Given the description of an element on the screen output the (x, y) to click on. 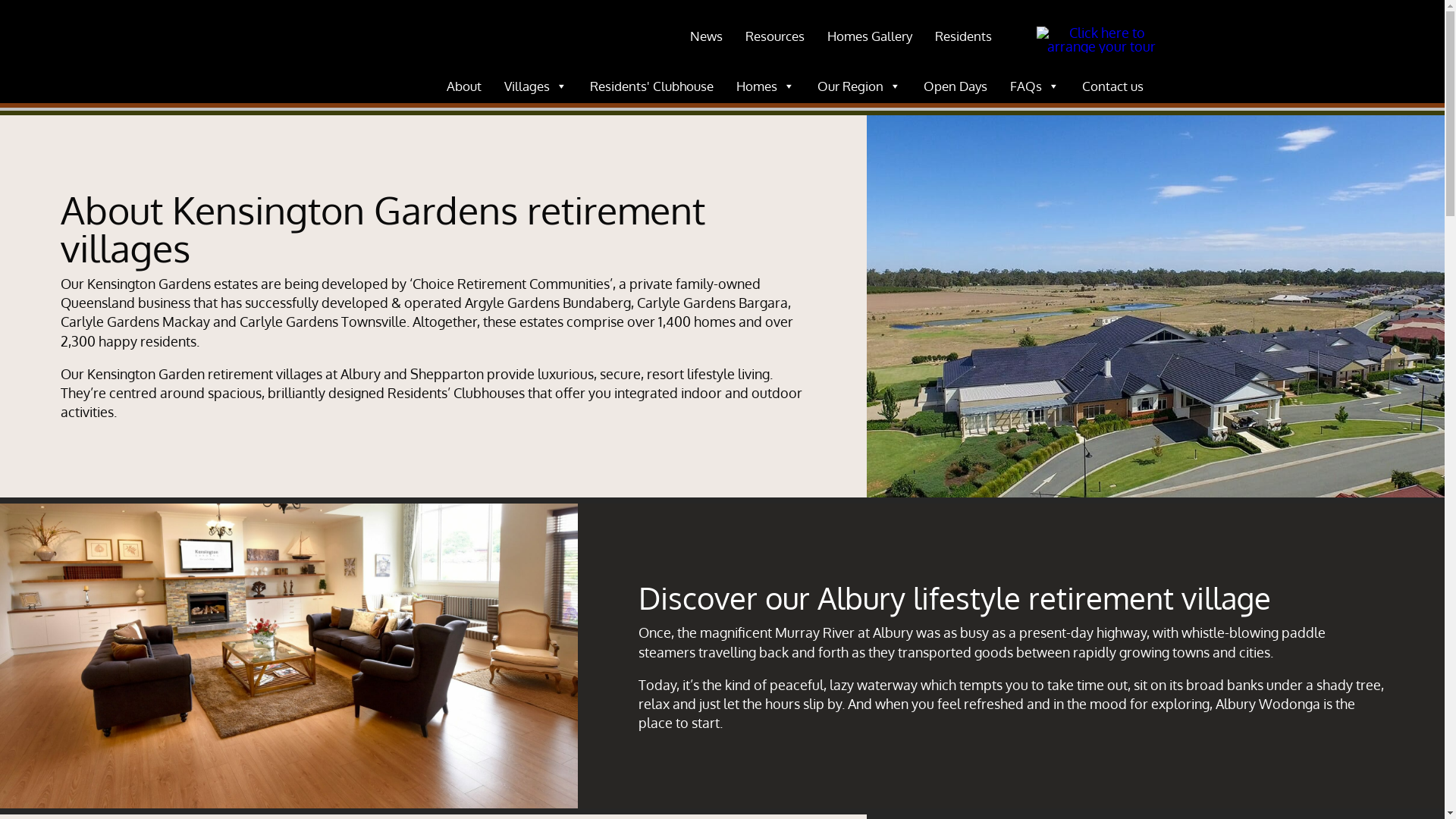
Contact us Element type: text (1112, 86)
Residents' Clubhouse Element type: text (651, 86)
Our Region Element type: text (859, 86)
Residents Element type: text (963, 35)
Homes Element type: text (765, 86)
Homes Gallery Element type: text (869, 35)
Resources Element type: text (774, 35)
Villages Element type: text (535, 86)
News Element type: text (705, 35)
FAQs Element type: text (1034, 86)
Open Days Element type: text (955, 86)
About Element type: text (463, 86)
